Given the description of an element on the screen output the (x, y) to click on. 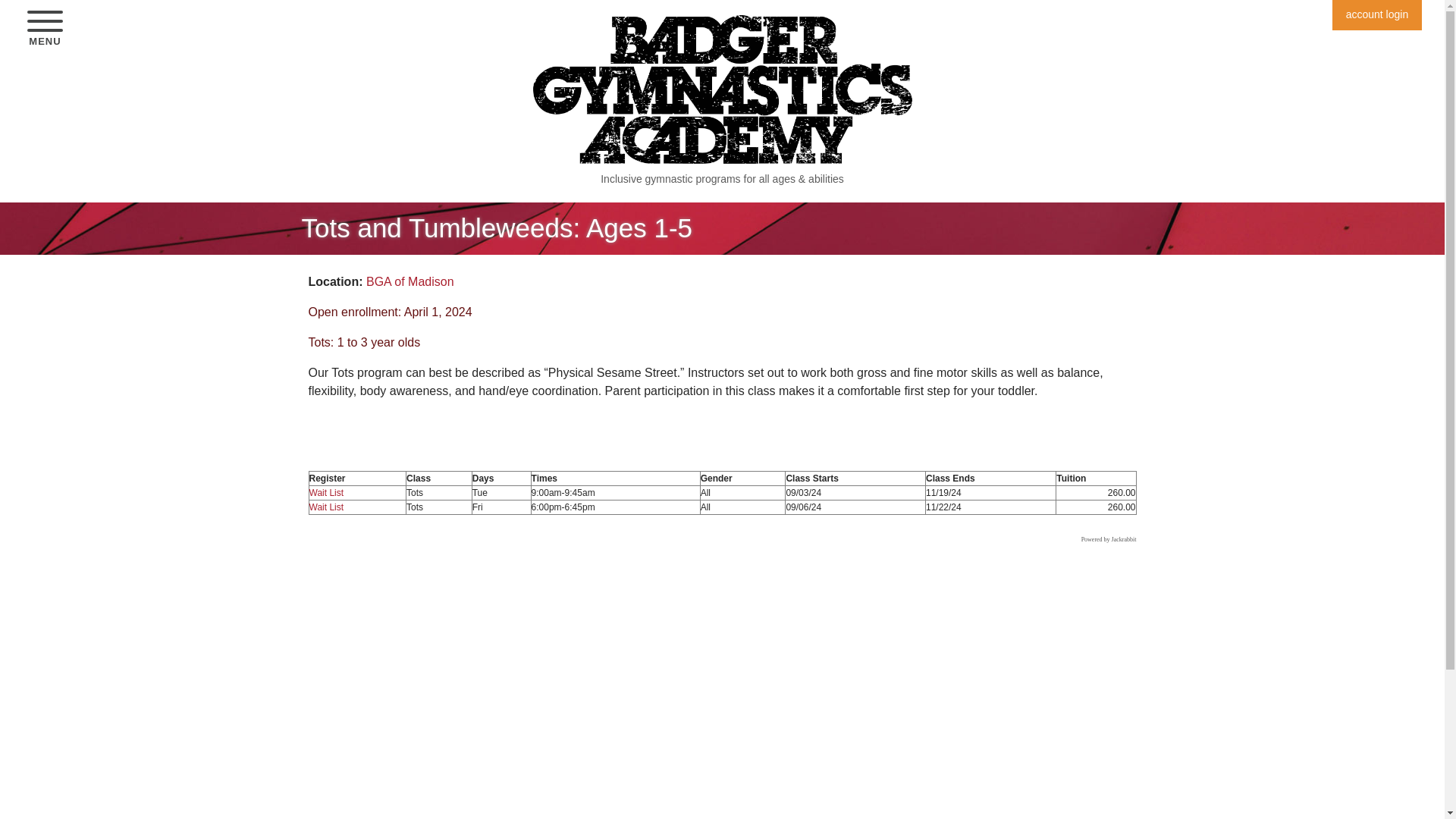
Wait List (325, 507)
Powered by Jackrabbit (1109, 539)
Badger Gymnastics (721, 88)
Powered by Jackrabbit (1109, 539)
Wait List (325, 492)
BGA of Madison (44, 29)
account login (410, 281)
